Given the description of an element on the screen output the (x, y) to click on. 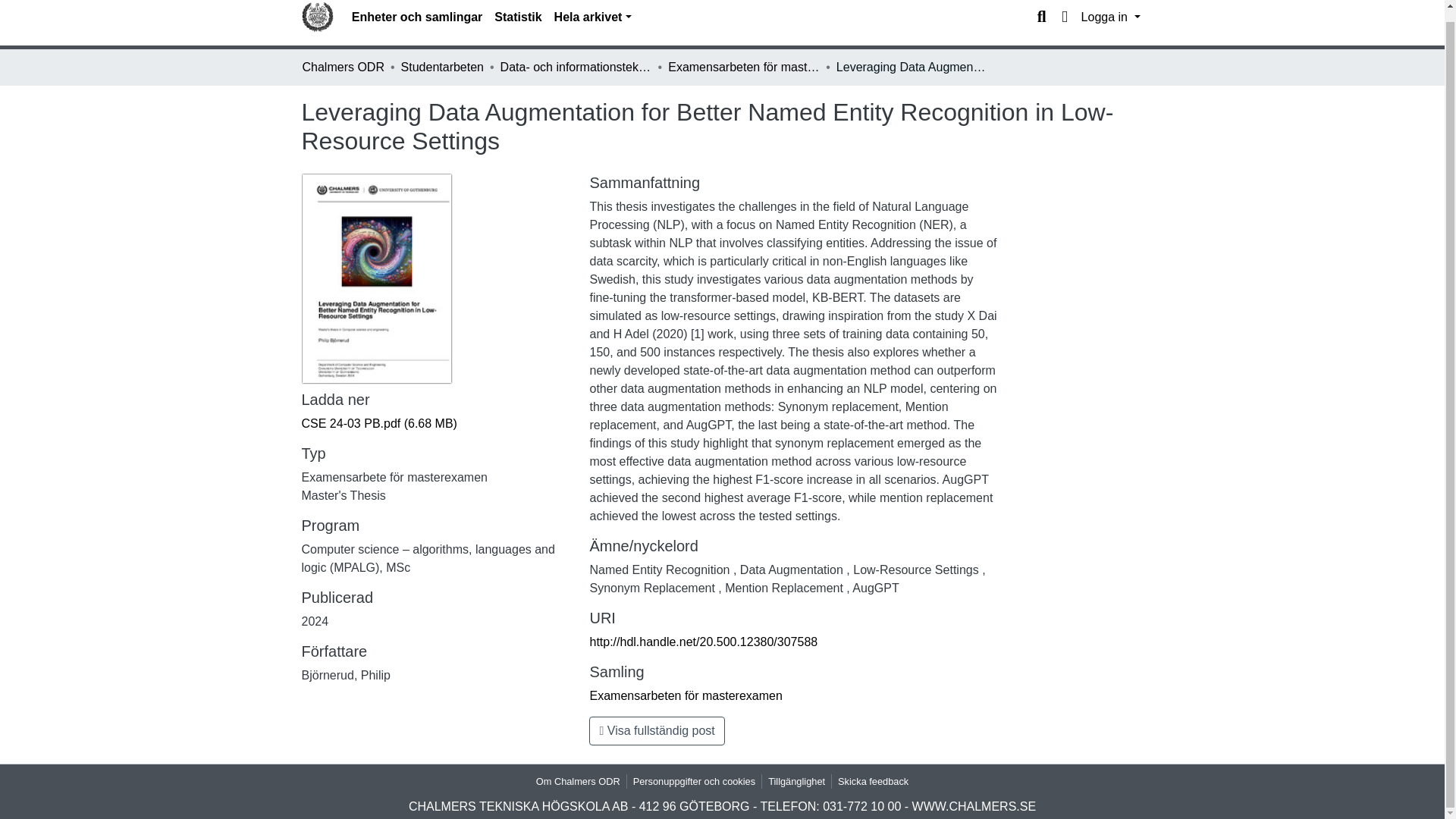
Om Chalmers ODR (577, 780)
Statistik (517, 17)
WWW.CHALMERS.SE (974, 806)
Logga in (1110, 16)
Hela arkivet (592, 17)
Statistik (517, 17)
Personuppgifter och cookies (694, 780)
Enheter och samlingar (417, 17)
Studentarbeten (442, 67)
Enheter och samlingar (417, 17)
